Given the description of an element on the screen output the (x, y) to click on. 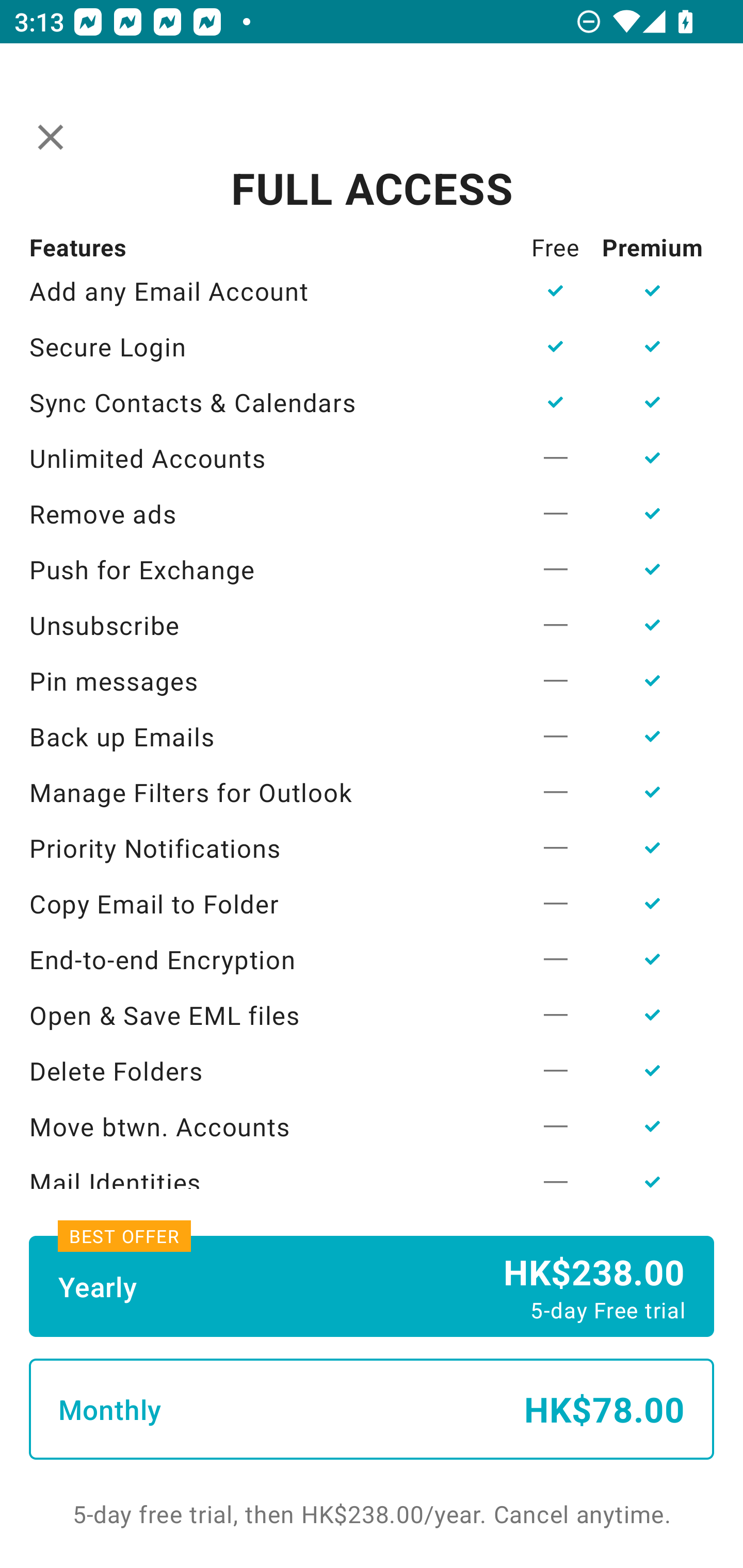
Yearly HK$238.00 5-day Free trial (371, 1286)
Monthly HK$78.00 (371, 1408)
